Given the description of an element on the screen output the (x, y) to click on. 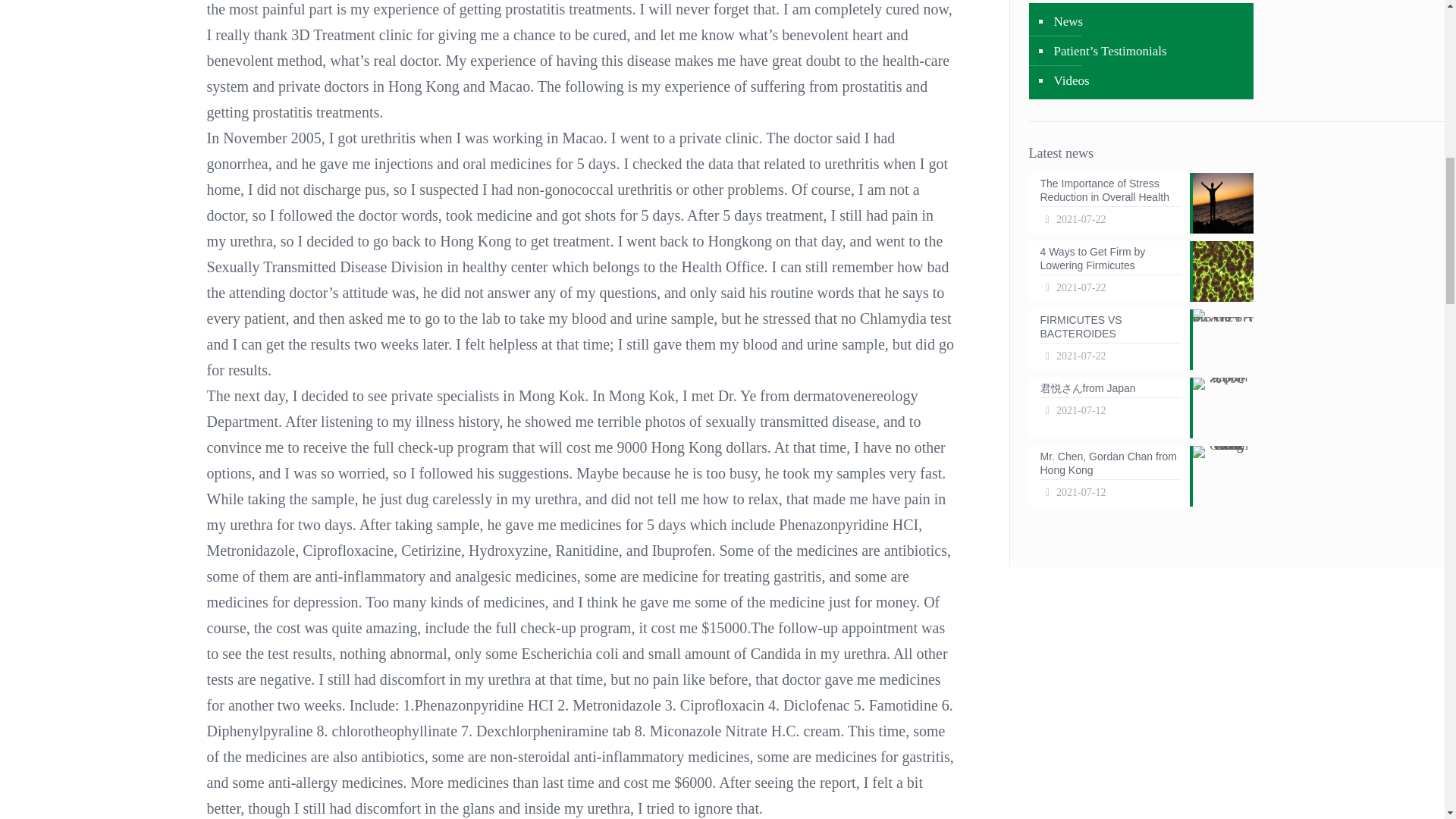
Videos (1147, 80)
News (1139, 475)
